Given the description of an element on the screen output the (x, y) to click on. 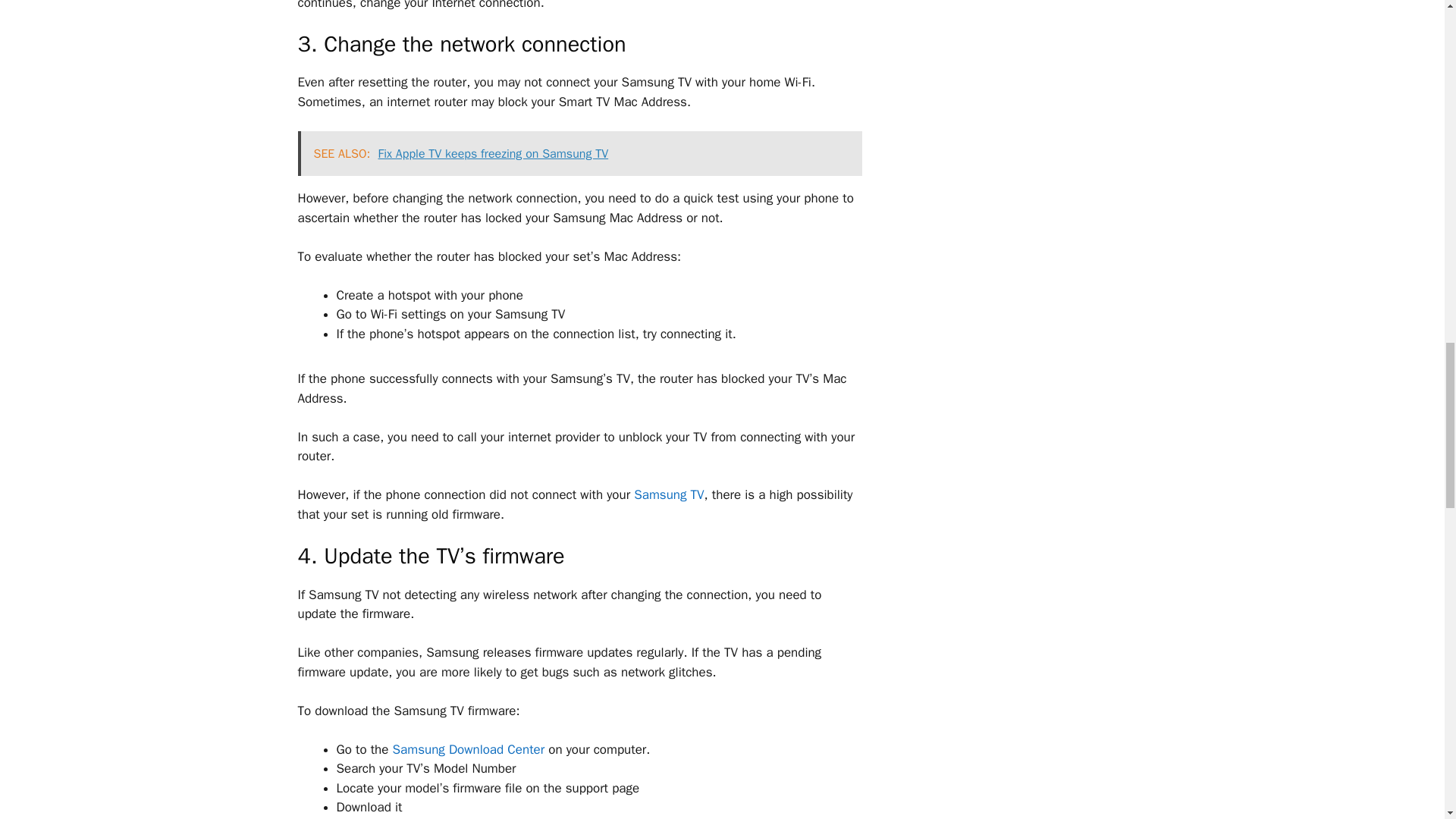
Samsung Download Center (468, 749)
Samsung TV (668, 494)
SEE ALSO:  Fix Apple TV keeps freezing on Samsung TV (579, 153)
